Given the description of an element on the screen output the (x, y) to click on. 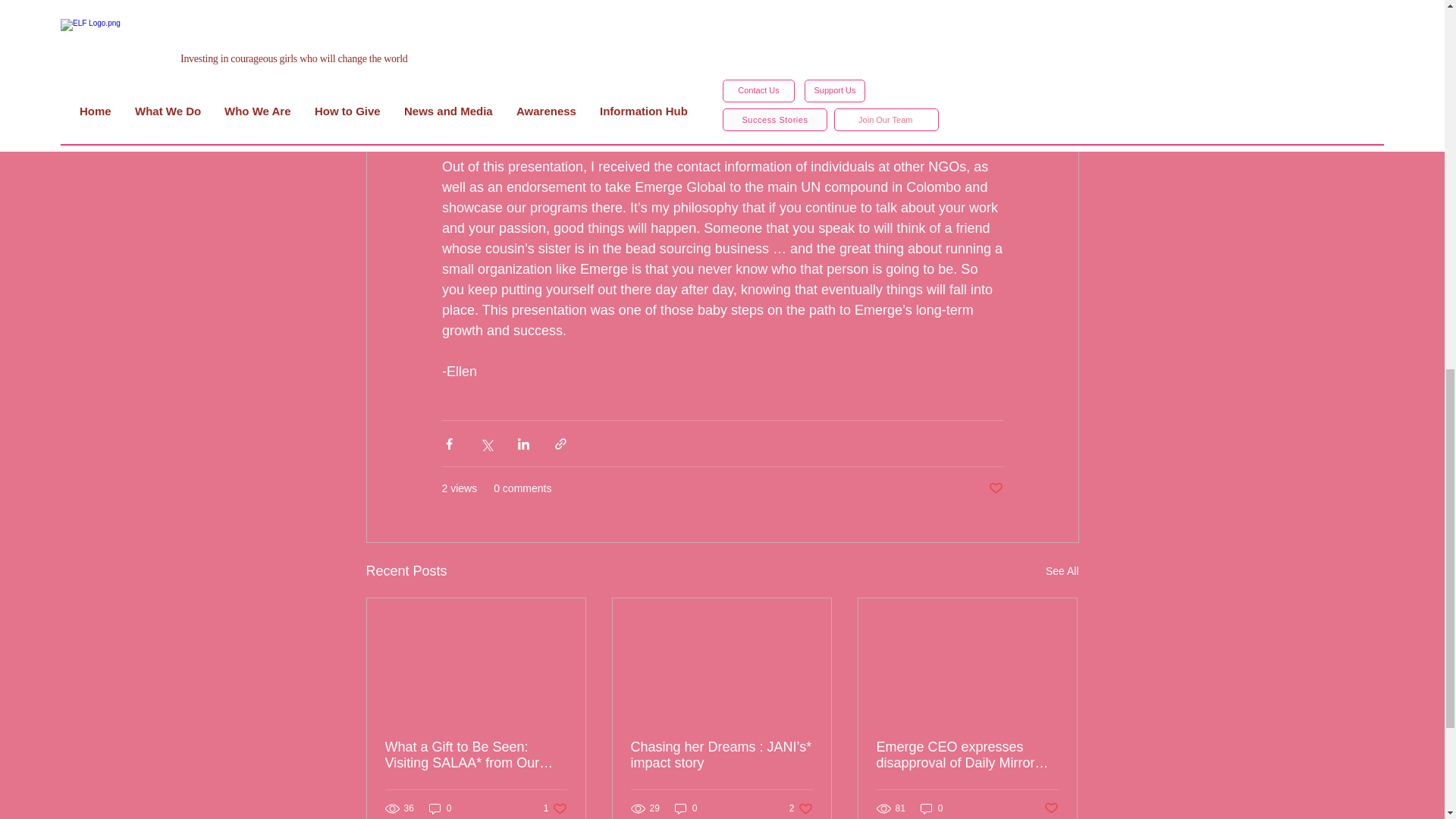
Post not marked as liked (995, 488)
0 (555, 807)
See All (440, 807)
ribbon necklaces (1061, 571)
